Given the description of an element on the screen output the (x, y) to click on. 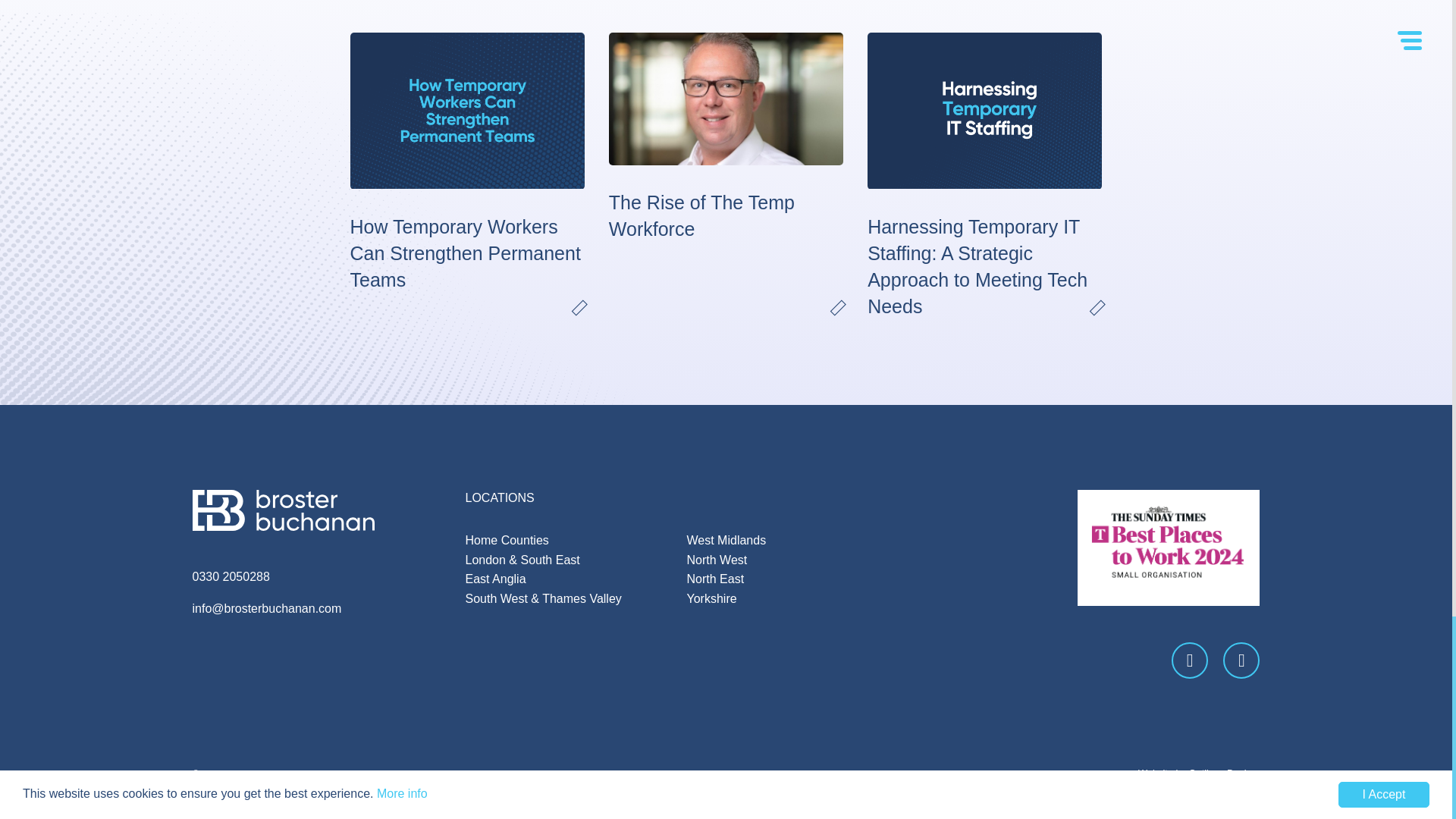
Home Counties (506, 540)
West Midlands (727, 540)
0330 2050288 (230, 576)
North West (717, 559)
North East (715, 578)
East Anglia (495, 578)
